Given the description of an element on the screen output the (x, y) to click on. 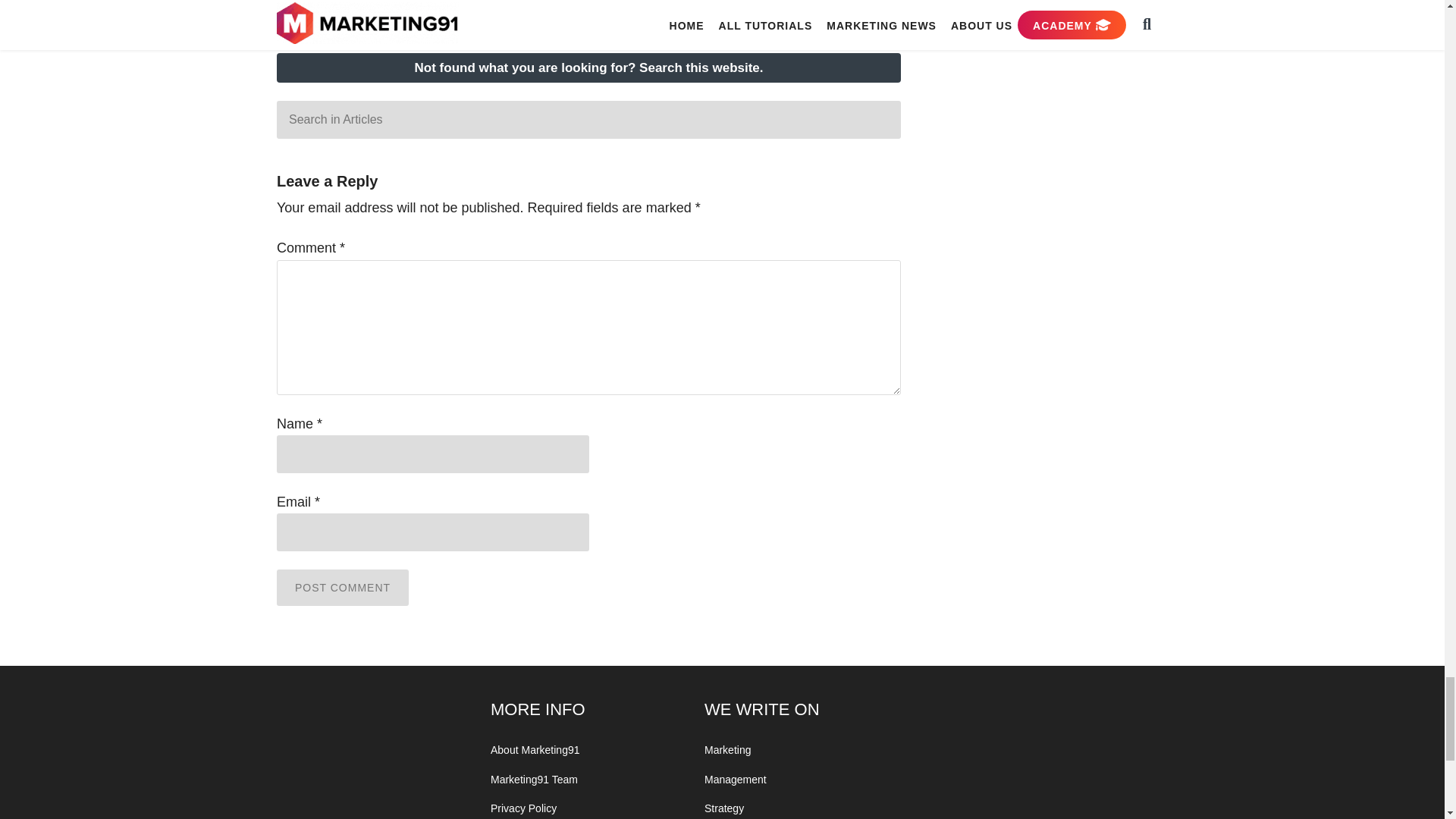
Post Comment (342, 587)
